Given the description of an element on the screen output the (x, y) to click on. 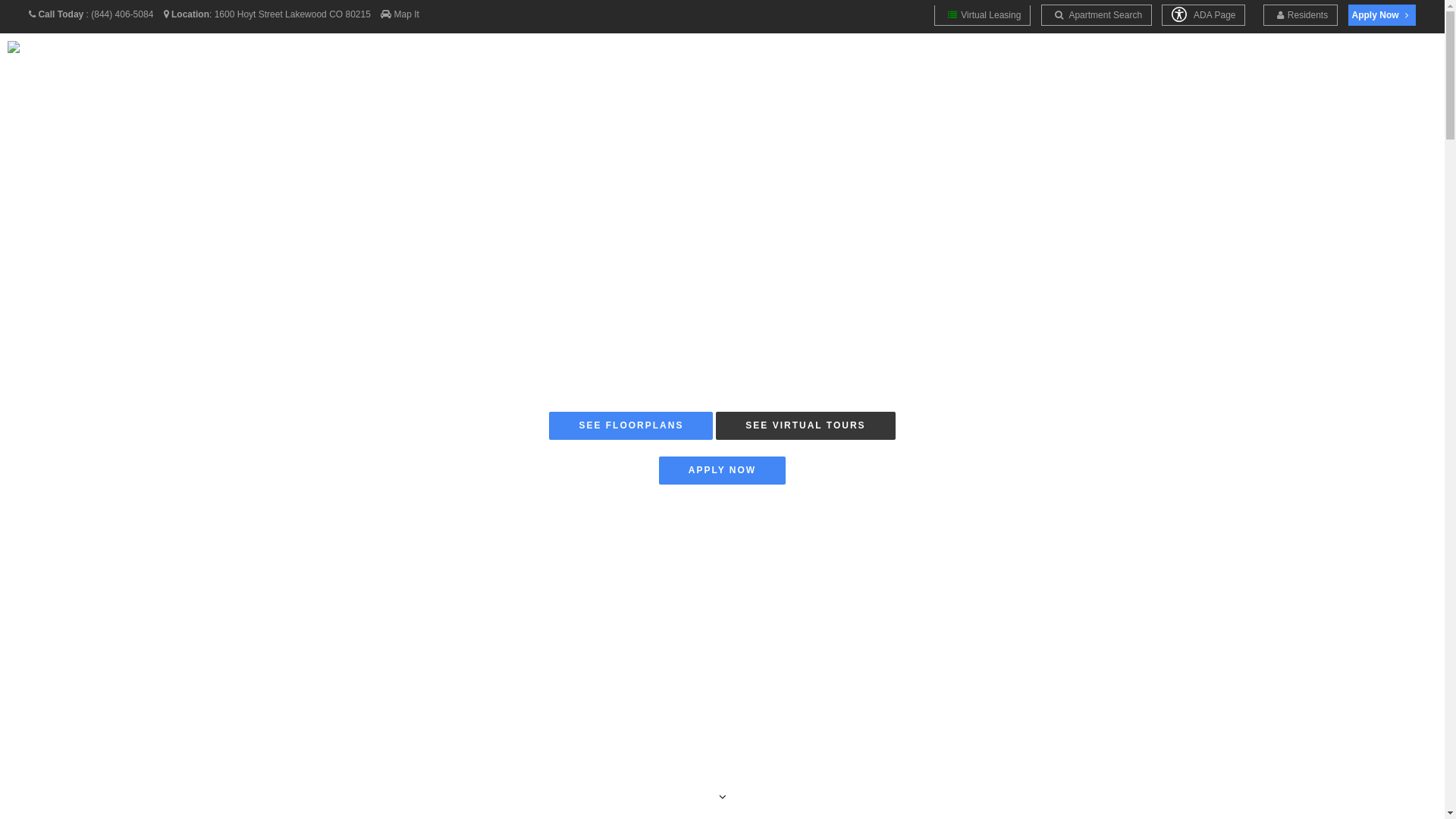
AMENITIES Element type: text (791, 68)
1600 Hoyt in Lakewood, CO Element type: hover (60, 68)
REVIEWS Element type: text (1390, 68)
CONTACT Element type: text (1185, 68)
FLOOR PLANS Element type: text (880, 68)
Virtual Leasing Element type: text (982, 15)
SEE VIRTUAL TOURS Element type: text (804, 425)
GALLERY Element type: text (714, 68)
APPLY NOW Element type: text (721, 470)
Map It Element type: text (406, 14)
1600 Hoyt Street Lakewood CO 80215 Element type: text (293, 14)
NEIGHBORHOOD Element type: text (1093, 68)
ADA Page Element type: text (1203, 14)
Residents Element type: text (1300, 14)
Apartment Search Element type: text (1096, 14)
HOME Element type: text (651, 68)
SEE FLOORPLANS Element type: text (630, 425)
Apply Now Element type: text (1381, 14)
SCHEDULE A TOUR Element type: text (1288, 68)
VIRTUAL TOURS Element type: text (983, 68)
